Given the description of an element on the screen output the (x, y) to click on. 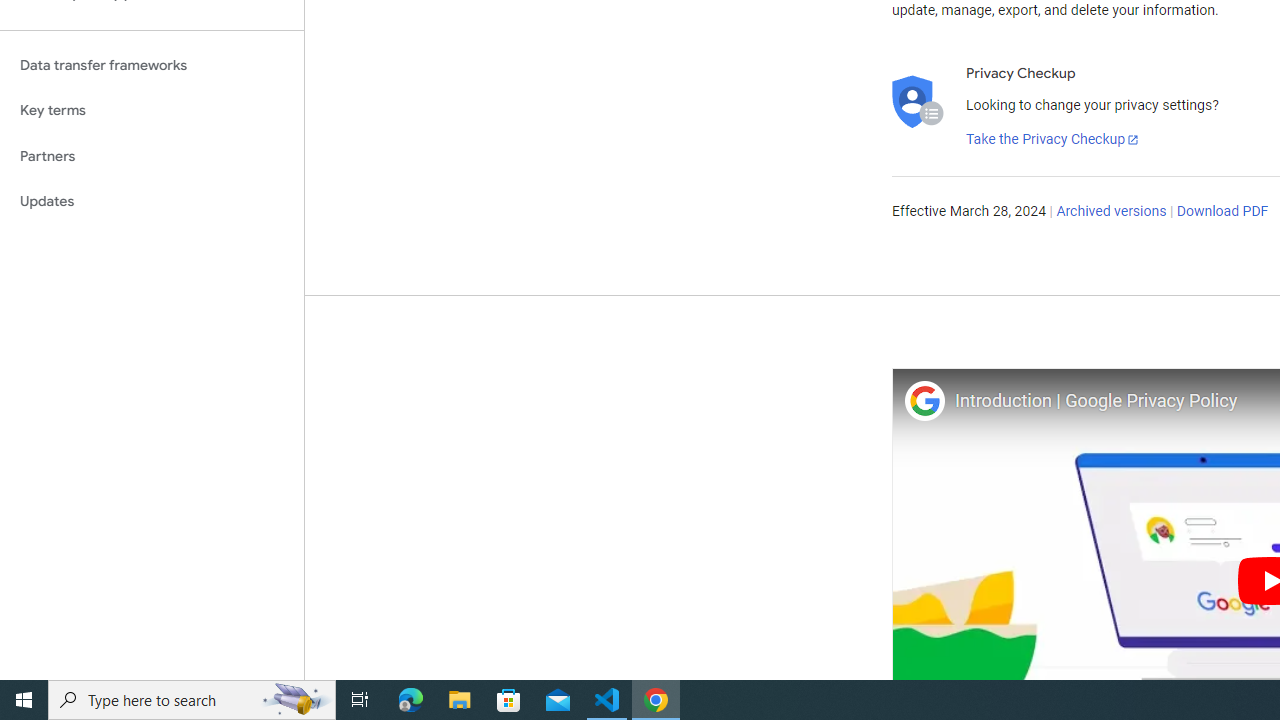
Archived versions (1111, 212)
Photo image of Google (924, 400)
Key terms (152, 110)
Download PDF (1222, 212)
Take the Privacy Checkup (1053, 140)
Data transfer frameworks (152, 65)
Partners (152, 156)
